Given the description of an element on the screen output the (x, y) to click on. 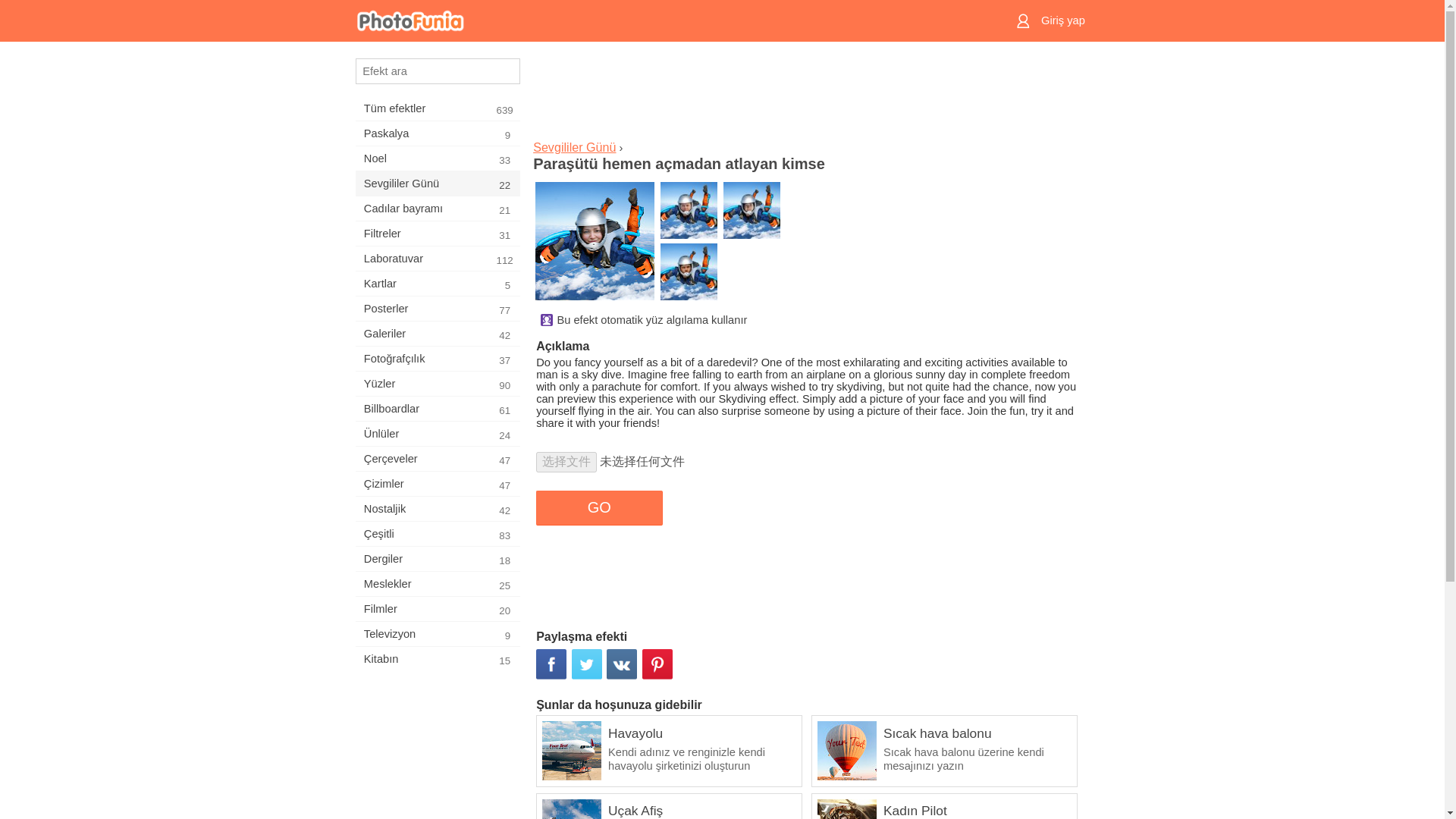
GO (437, 158)
PhotoFunia (437, 633)
